Given the description of an element on the screen output the (x, y) to click on. 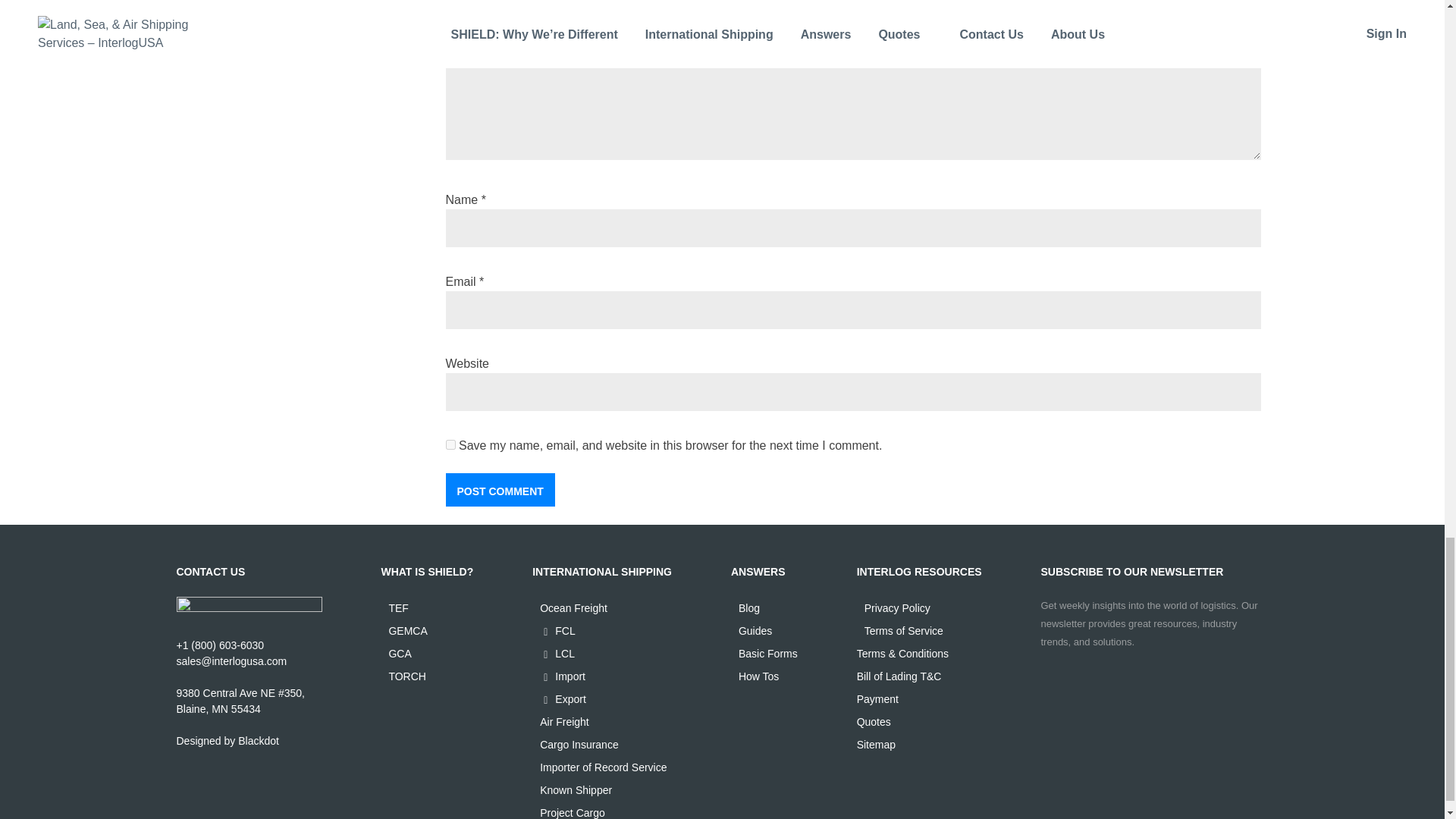
Blackdot (258, 740)
Post Comment (499, 489)
yes (450, 444)
